Given the description of an element on the screen output the (x, y) to click on. 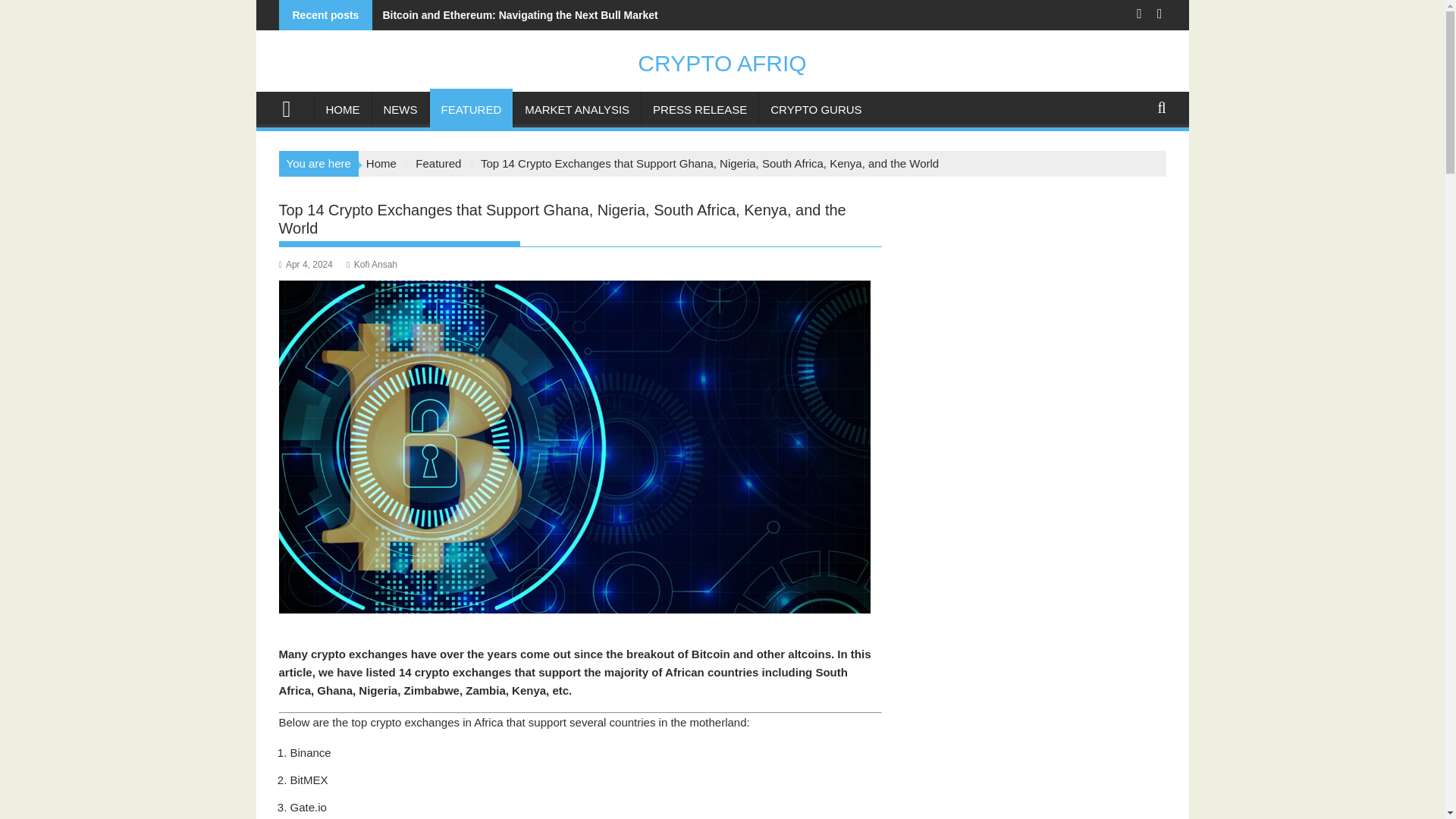
Apr 4, 2024 (306, 264)
Bitcoin and Ethereum: Navigating the Next Bull Market (515, 15)
HOME (342, 109)
CRYPTO AFRIQ (721, 63)
Bitcoin and Ethereum: Navigating the Next Bull Market (515, 15)
FEATURED (470, 109)
MARKET ANALYSIS (576, 109)
Kofi Ansah (371, 264)
NEWS (399, 109)
CRYPTO GURUS (815, 109)
Home (381, 163)
CRYPTO AFRIQ (293, 106)
PRESS RELEASE (700, 109)
Featured (437, 163)
